Given the description of an element on the screen output the (x, y) to click on. 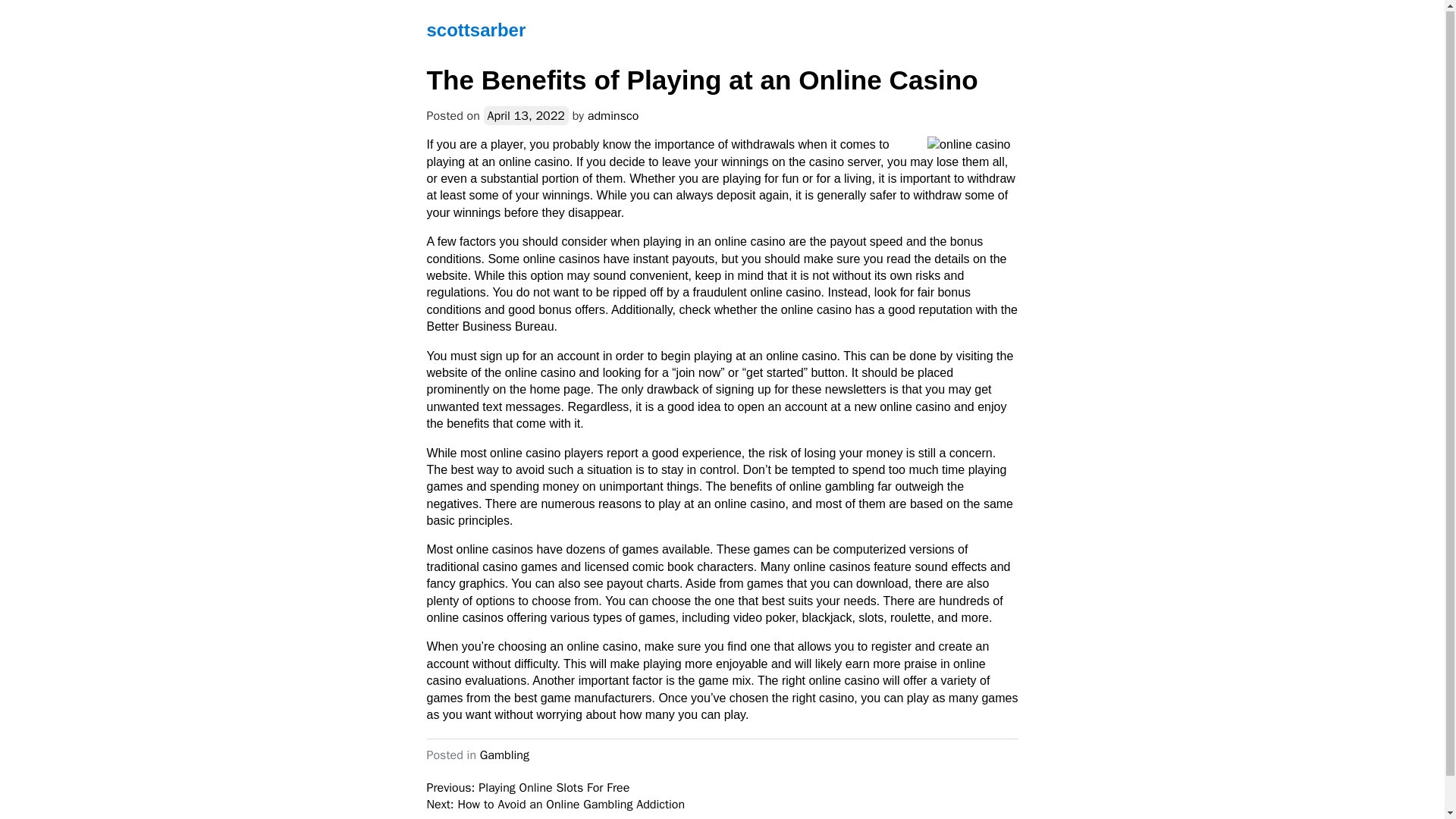
April 13, 2022 (526, 115)
Gambling (504, 754)
scottsarber (475, 29)
